Given the description of an element on the screen output the (x, y) to click on. 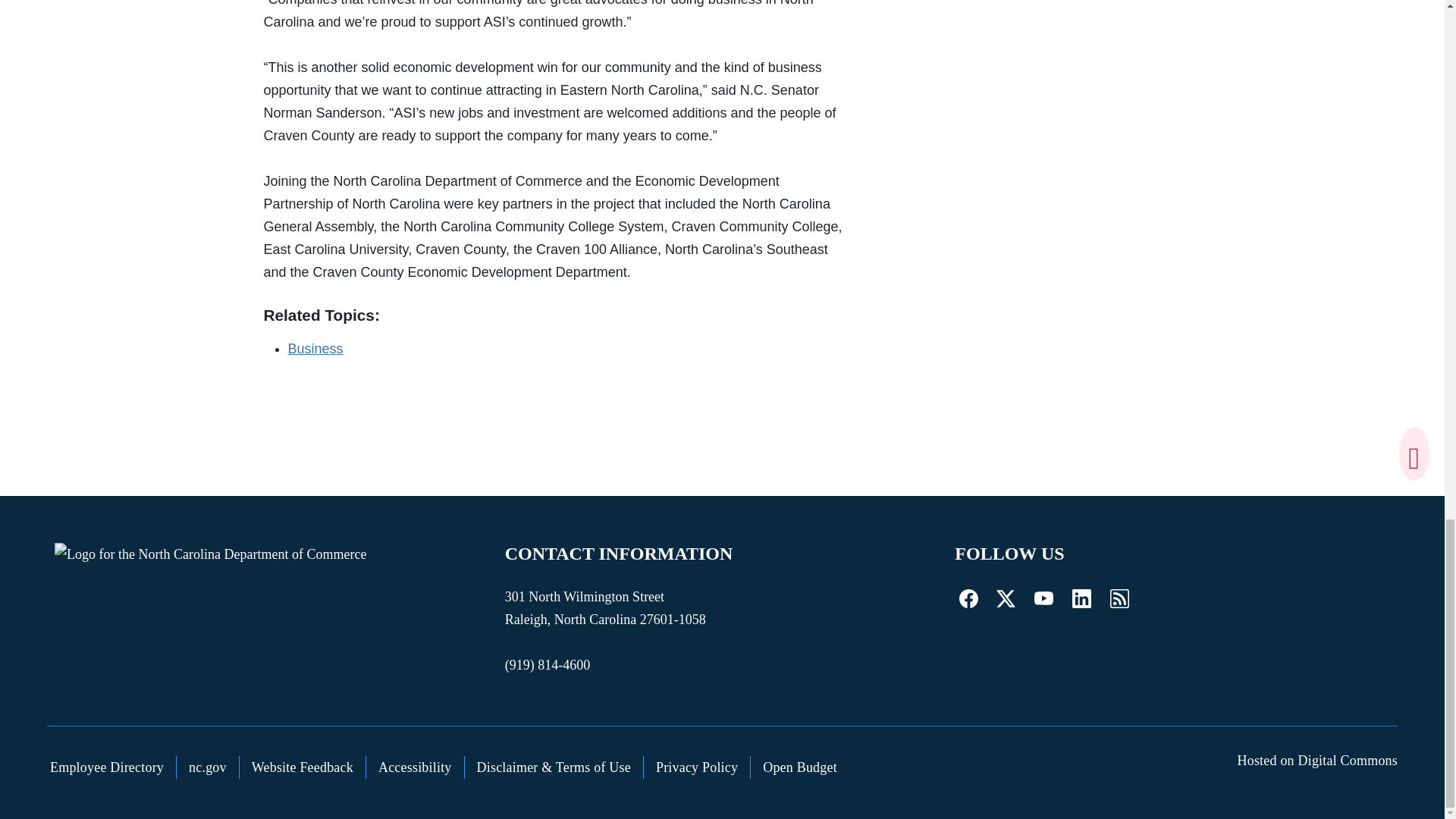
The State of North Carolina (208, 766)
State of North Carolina Open Budget (799, 766)
Website User Feedback Form (303, 766)
Terms of Use (553, 766)
Accessibility of State of North Carolina Websites (415, 766)
State of North Carolina Privacy Policy (697, 766)
